Given the description of an element on the screen output the (x, y) to click on. 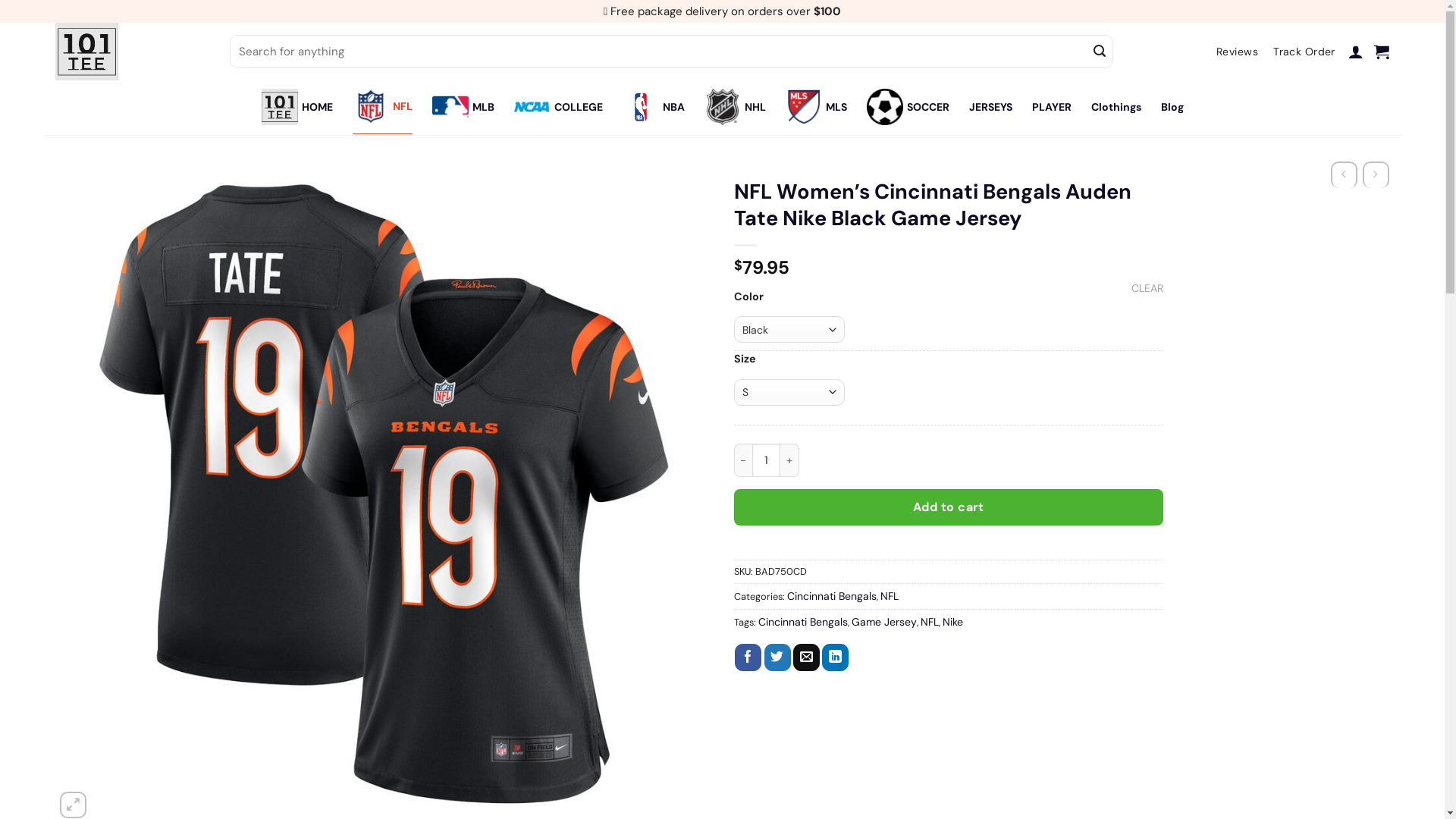
HOME Element type: text (296, 106)
Share on Facebook Element type: hover (747, 657)
CLEAR Element type: text (1147, 287)
NHL Element type: text (734, 106)
Game Jersey Element type: text (883, 621)
NFL Element type: text (888, 595)
Blog Element type: text (1171, 106)
NFL Element type: text (381, 106)
MLS Element type: text (816, 106)
Cincinnati Bengals Element type: text (831, 595)
NFL Element type: text (929, 621)
Share on Twitter Element type: hover (777, 657)
JERSEYS Element type: text (990, 106)
Email to a Friend Element type: hover (806, 657)
SOCCER Element type: text (907, 106)
Qty Element type: hover (766, 459)
Zoom Element type: hover (72, 804)
PLAYER Element type: text (1050, 106)
Nike Element type: text (951, 621)
Share on LinkedIn Element type: hover (835, 657)
MLB Element type: text (463, 106)
101TEE Element type: hover (130, 51)
COLLEGE Element type: text (558, 106)
Search Element type: text (1099, 51)
Track Order Element type: text (1303, 51)
Cincinnati Bengals Element type: text (802, 621)
Cart Element type: hover (1381, 51)
Add to cart Element type: text (949, 507)
NBA Element type: text (652, 106)
Clothings Element type: text (1115, 106)
Reviews Element type: text (1237, 51)
